Given the description of an element on the screen output the (x, y) to click on. 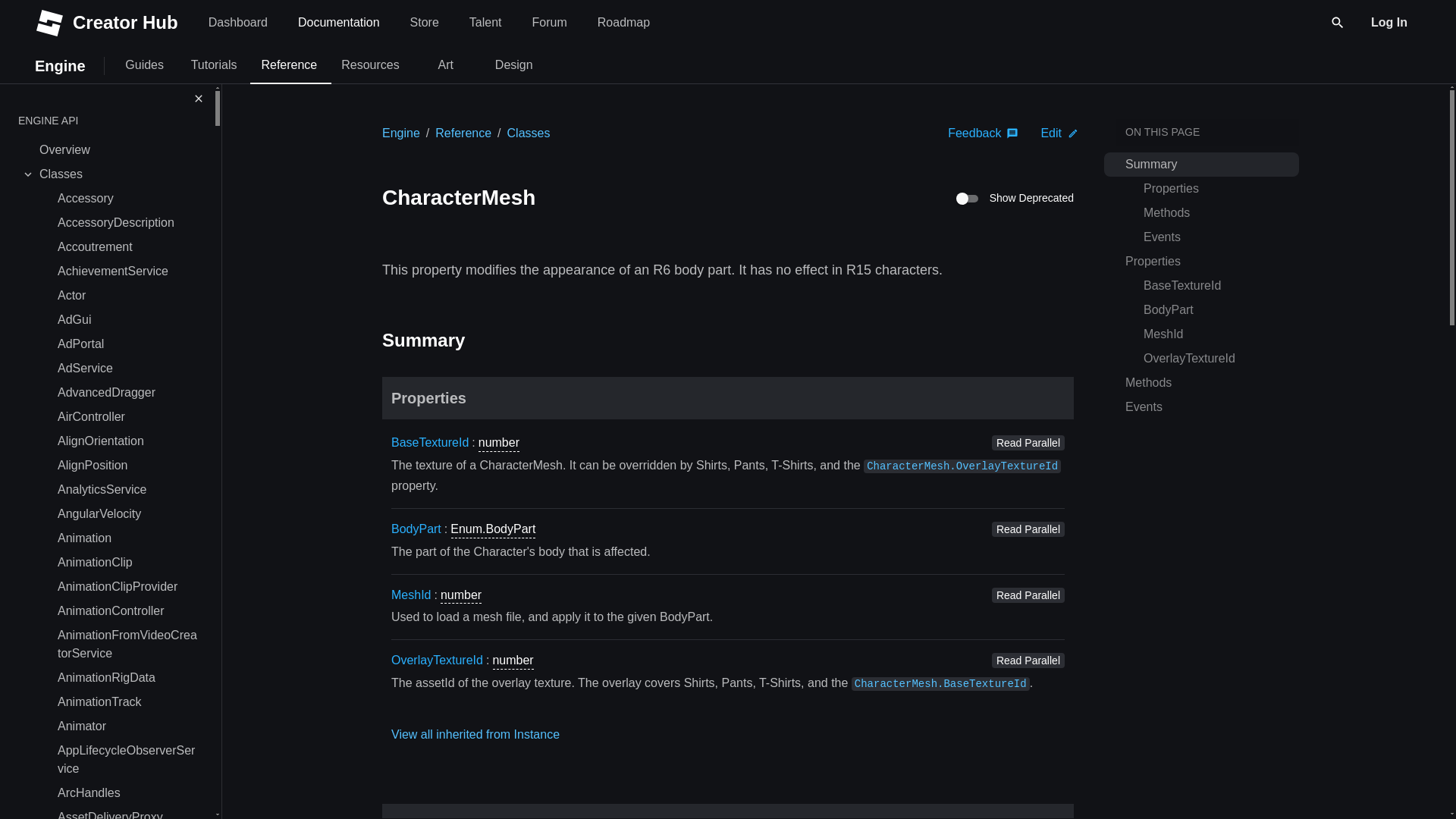
Tutorials (213, 63)
AnimationClip (127, 562)
AnalyticsService (429, 22)
Forum (127, 489)
Art (549, 22)
Talent (446, 63)
Store (485, 22)
Log In (424, 22)
Animator (1388, 21)
AchievementService (127, 726)
AnimationFromVideoCreatorService (127, 271)
Accoutrement (127, 644)
Guides (127, 247)
AdGui (144, 63)
